Given the description of an element on the screen output the (x, y) to click on. 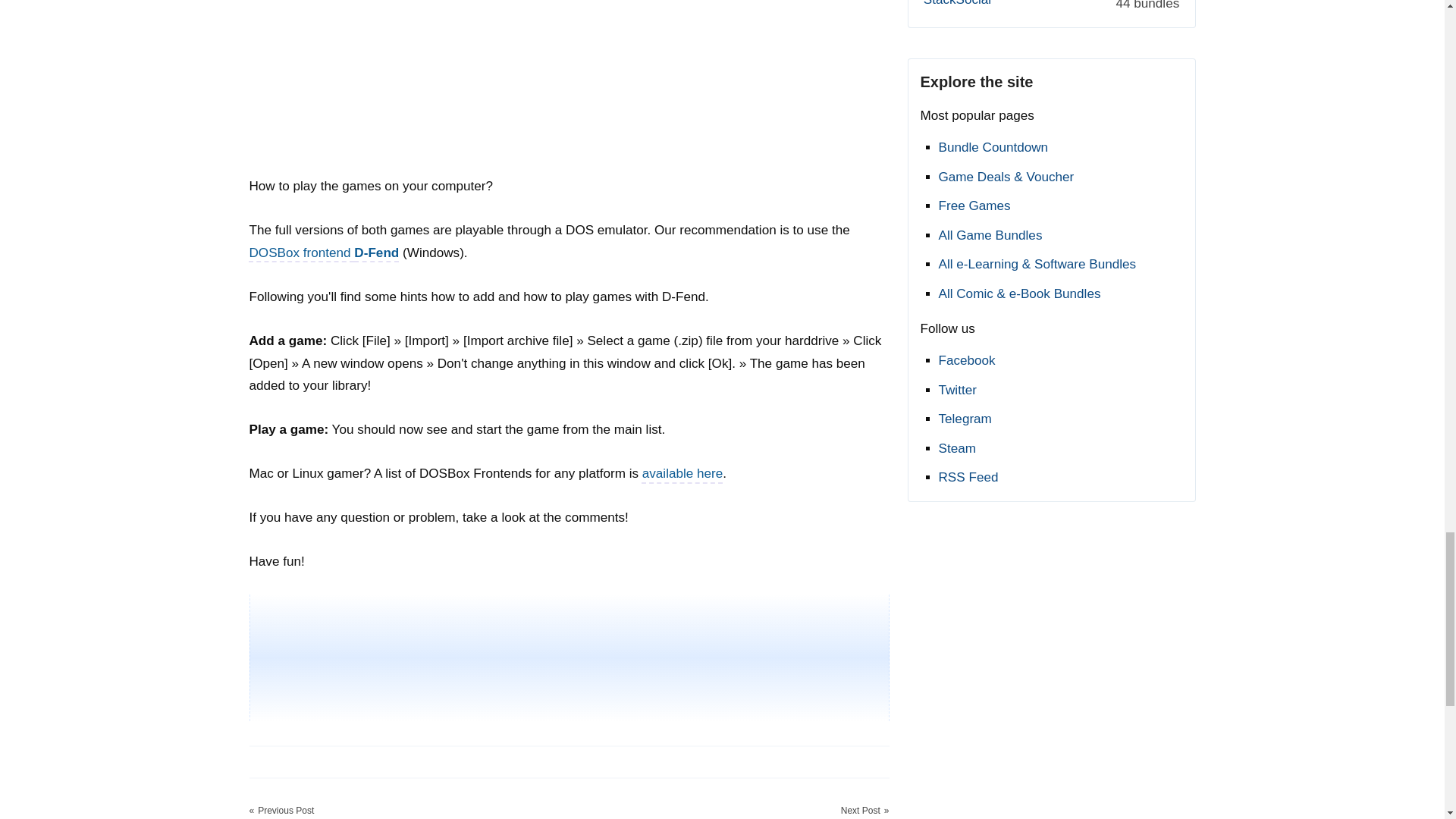
Visit the website of the DosBox frontend D-Fend Reloaded (323, 252)
DOSBox wiki - List of DOSBox Frontends (682, 473)
